Given the description of an element on the screen output the (x, y) to click on. 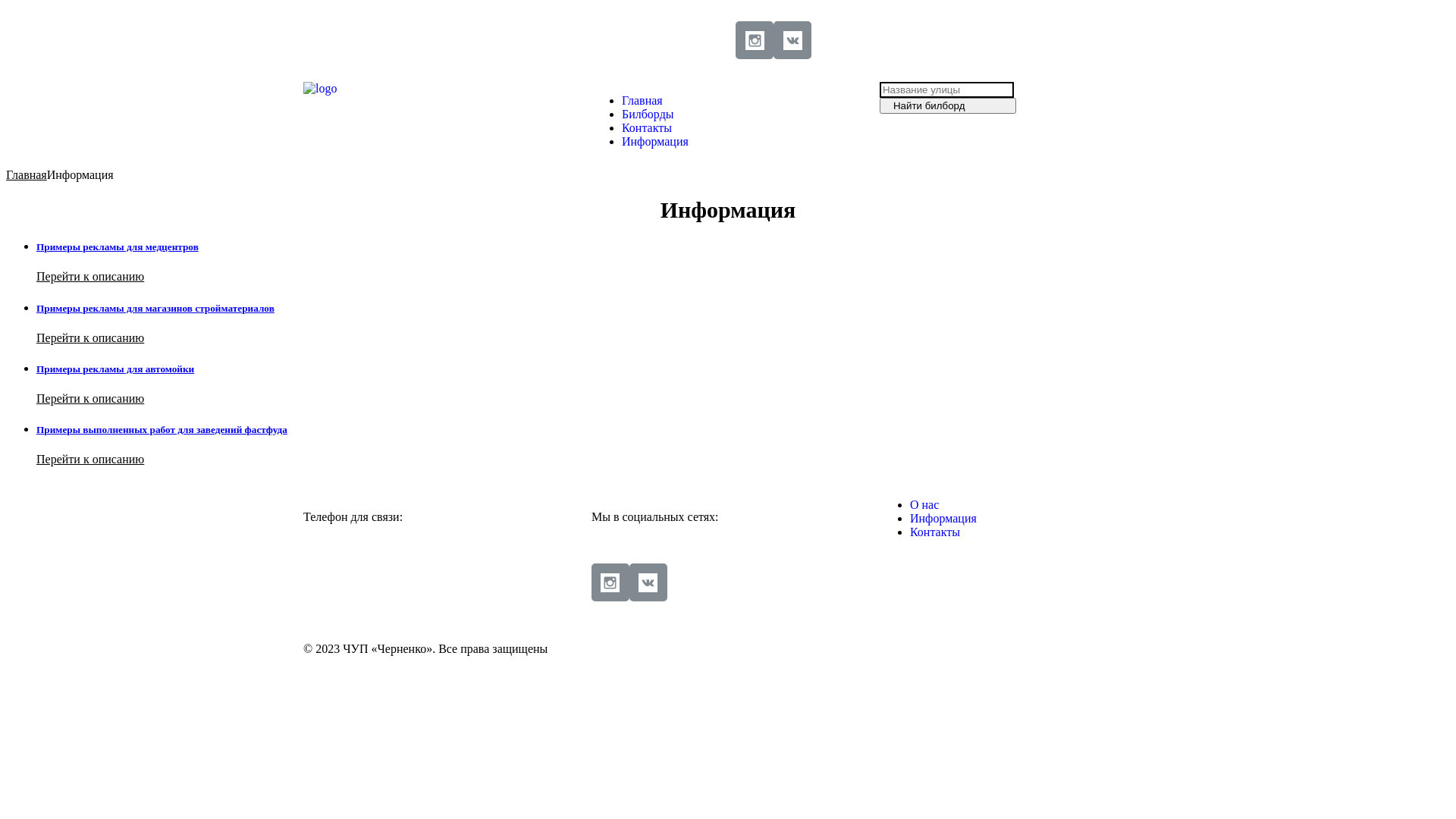
+375 (29) 382-00-00 Element type: text (353, 581)
+375 (29) 178-00-00 Element type: text (353, 595)
+375 (29) 382-00-00 Element type: text (353, 39)
+375 (29) 178-00-00 Element type: text (491, 39)
